Given the description of an element on the screen output the (x, y) to click on. 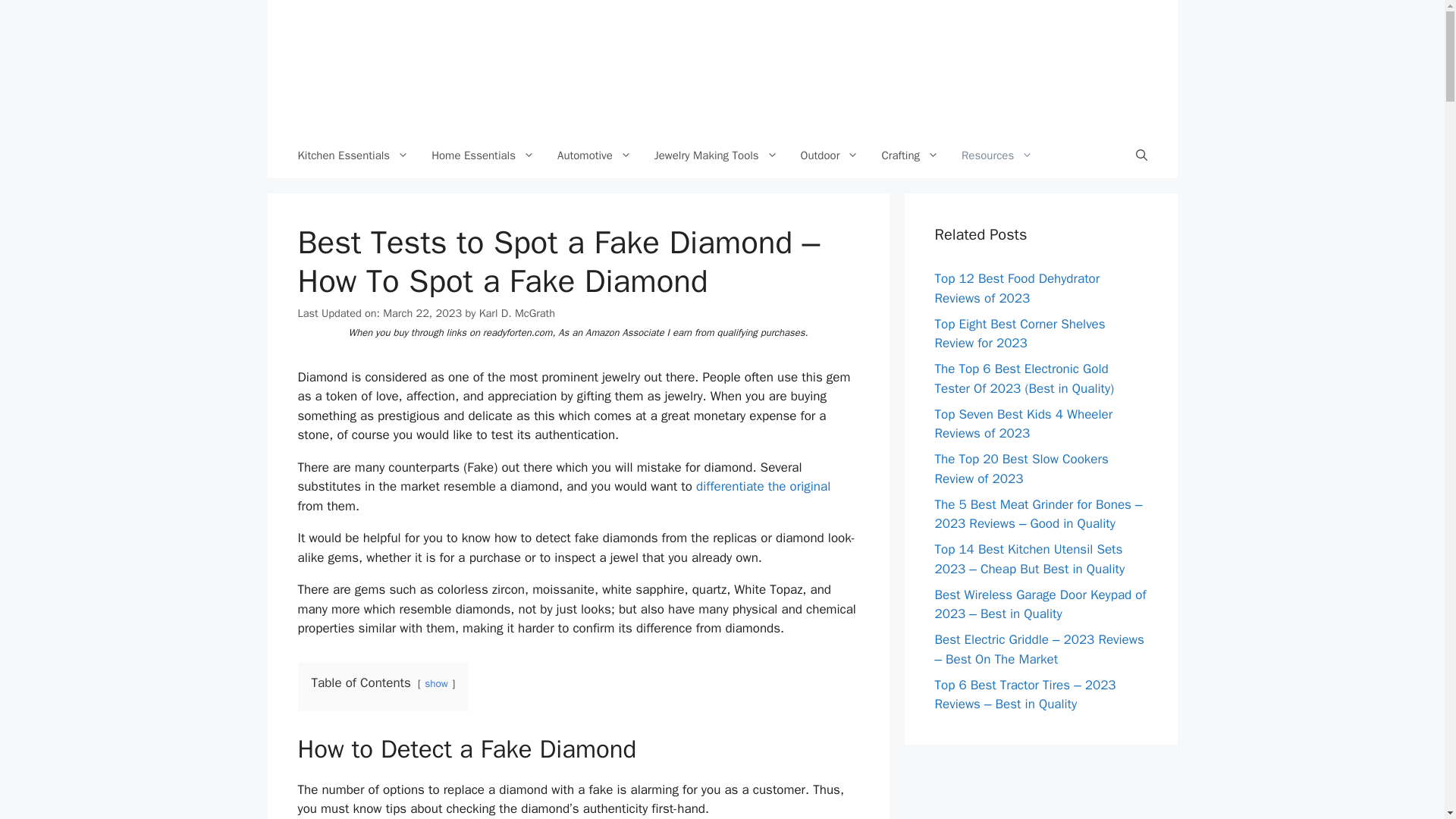
Kitchen Essentials (353, 155)
